Given the description of an element on the screen output the (x, y) to click on. 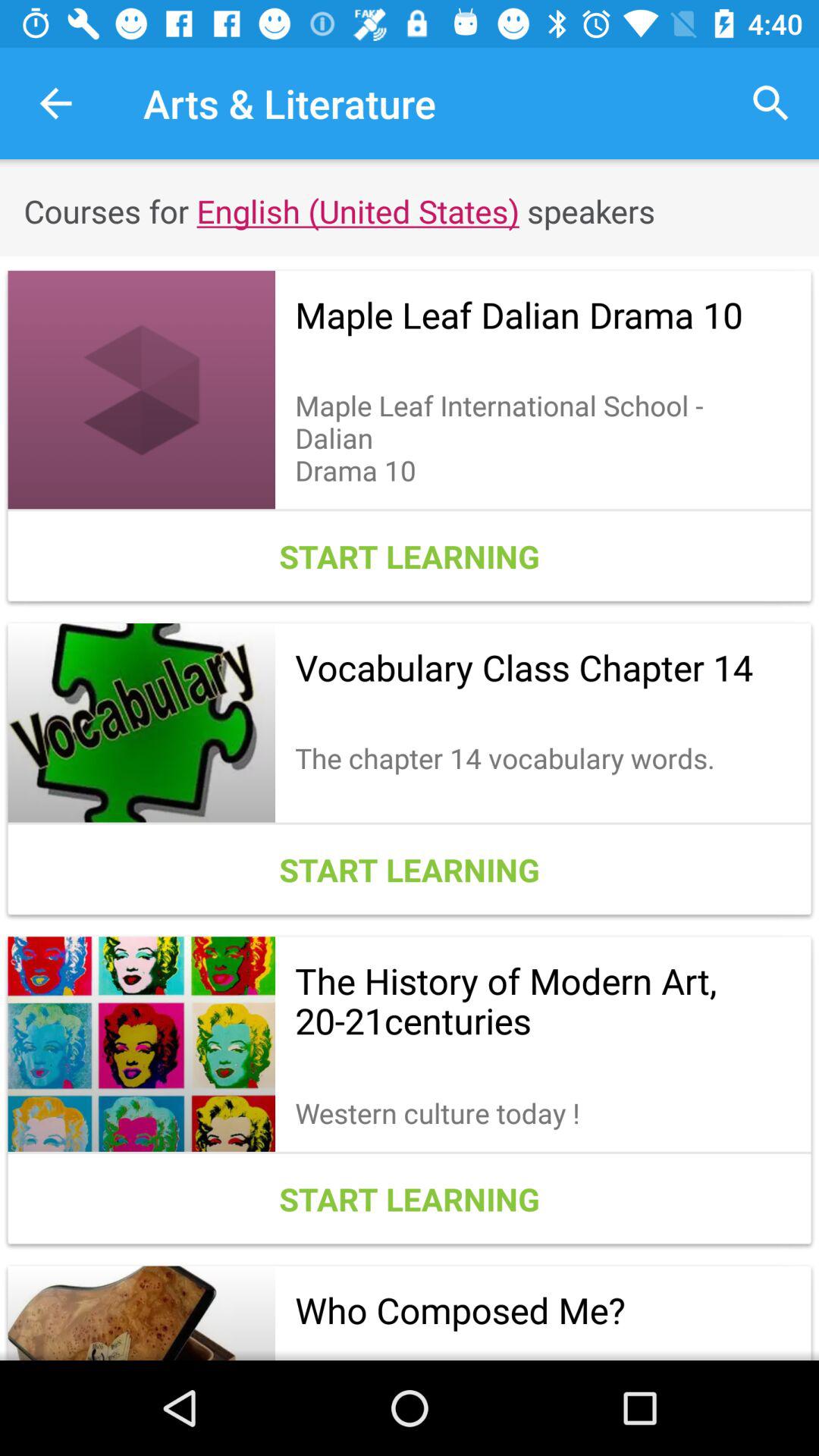
click the item at the top right corner (771, 103)
